Given the description of an element on the screen output the (x, y) to click on. 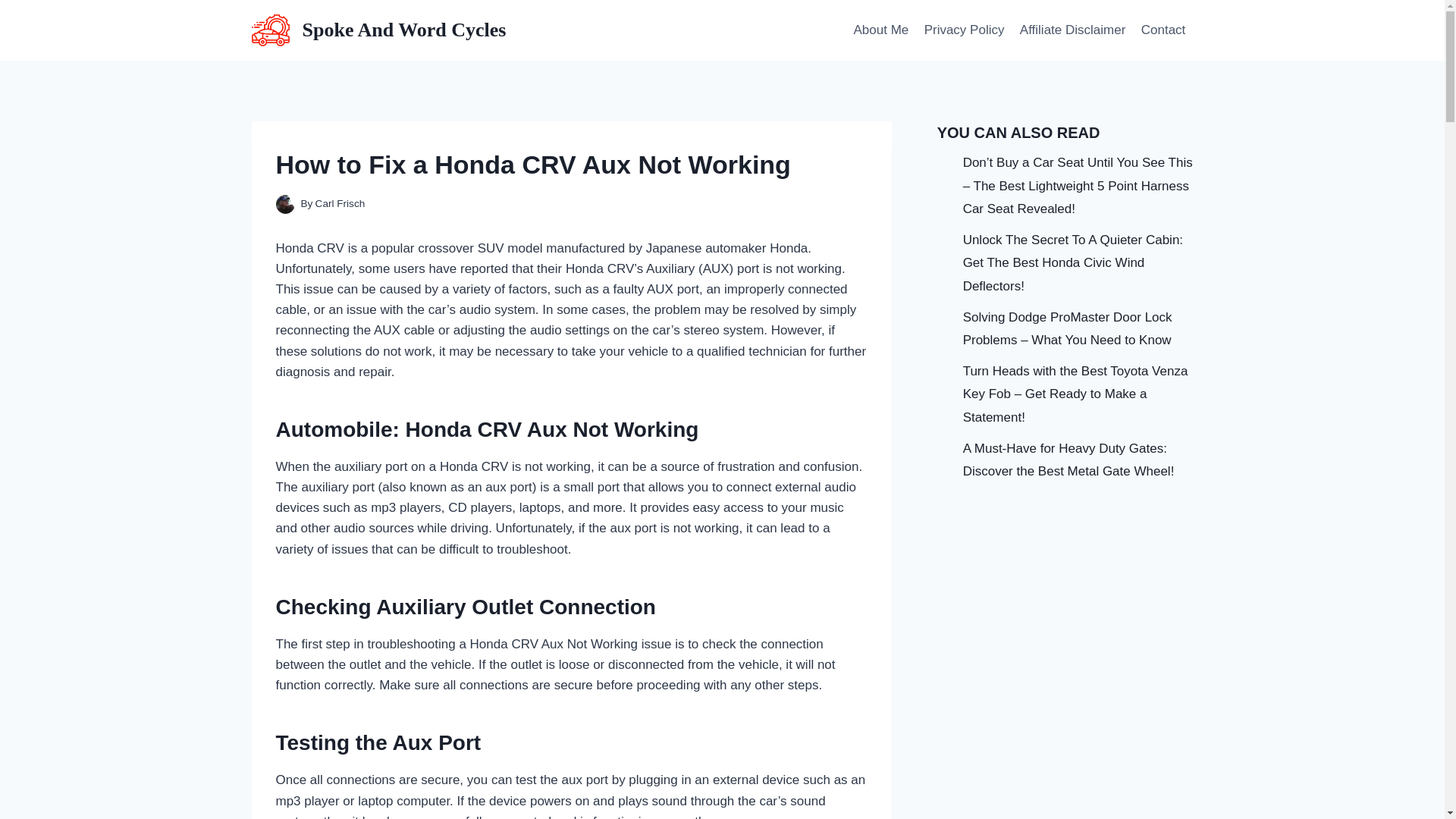
Privacy Policy (963, 30)
About Me (880, 30)
Contact (1163, 30)
Affiliate Disclaimer (1072, 30)
Spoke And Word Cycles (378, 29)
